Given the description of an element on the screen output the (x, y) to click on. 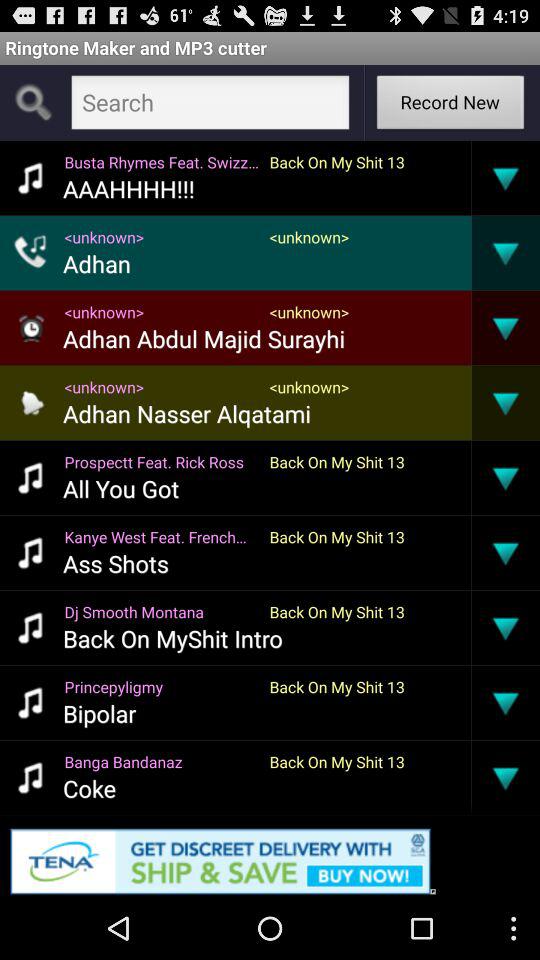
swipe until adhan abdul majid app (204, 338)
